Given the description of an element on the screen output the (x, y) to click on. 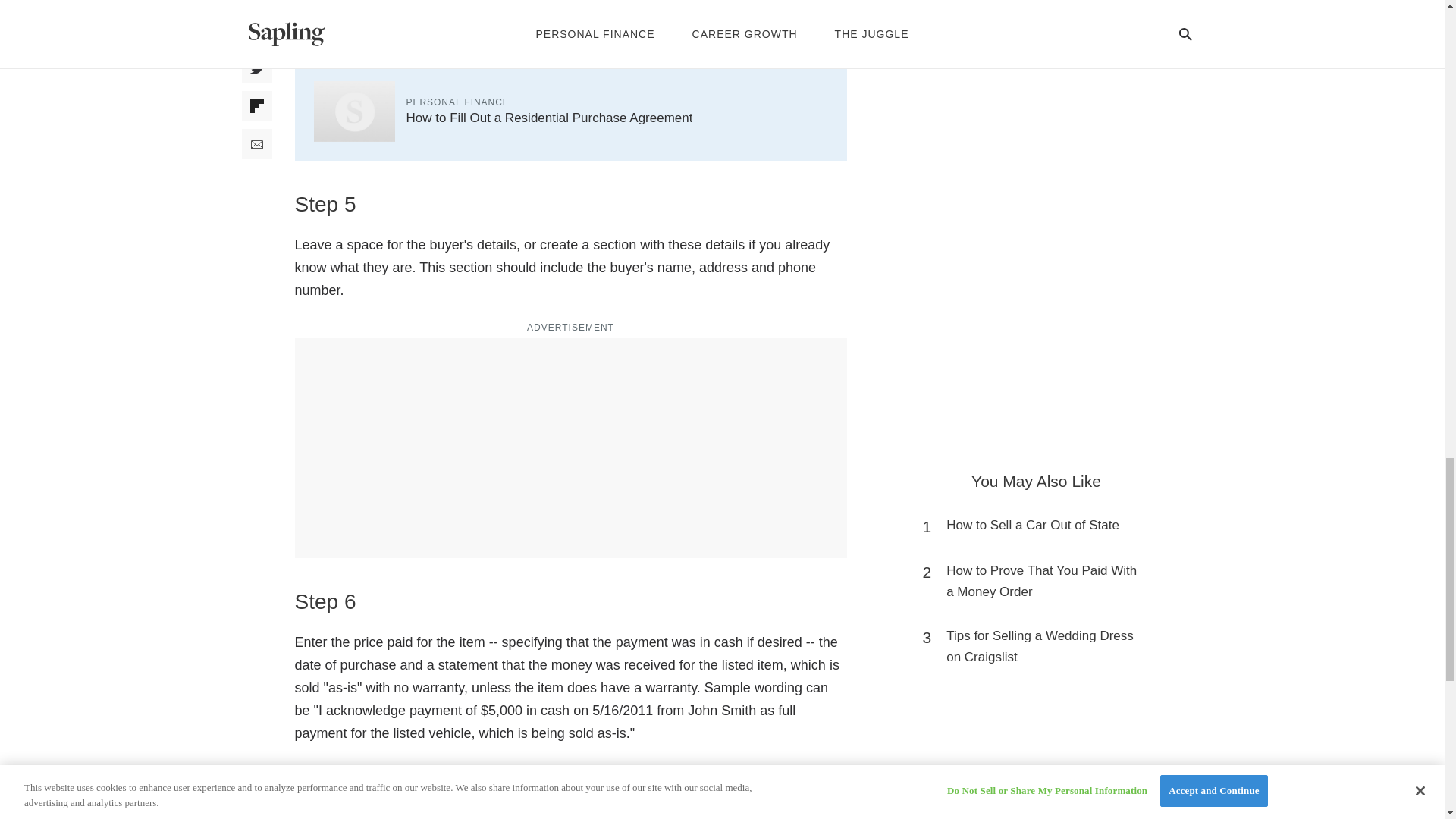
Tips for Selling a Wedding Dress on Craigslist (1043, 646)
3rd party ad content (1035, 91)
How to Sell a Car Out of State (1032, 525)
How to Prove That You Paid With a Money Order (1043, 581)
